Given the description of an element on the screen output the (x, y) to click on. 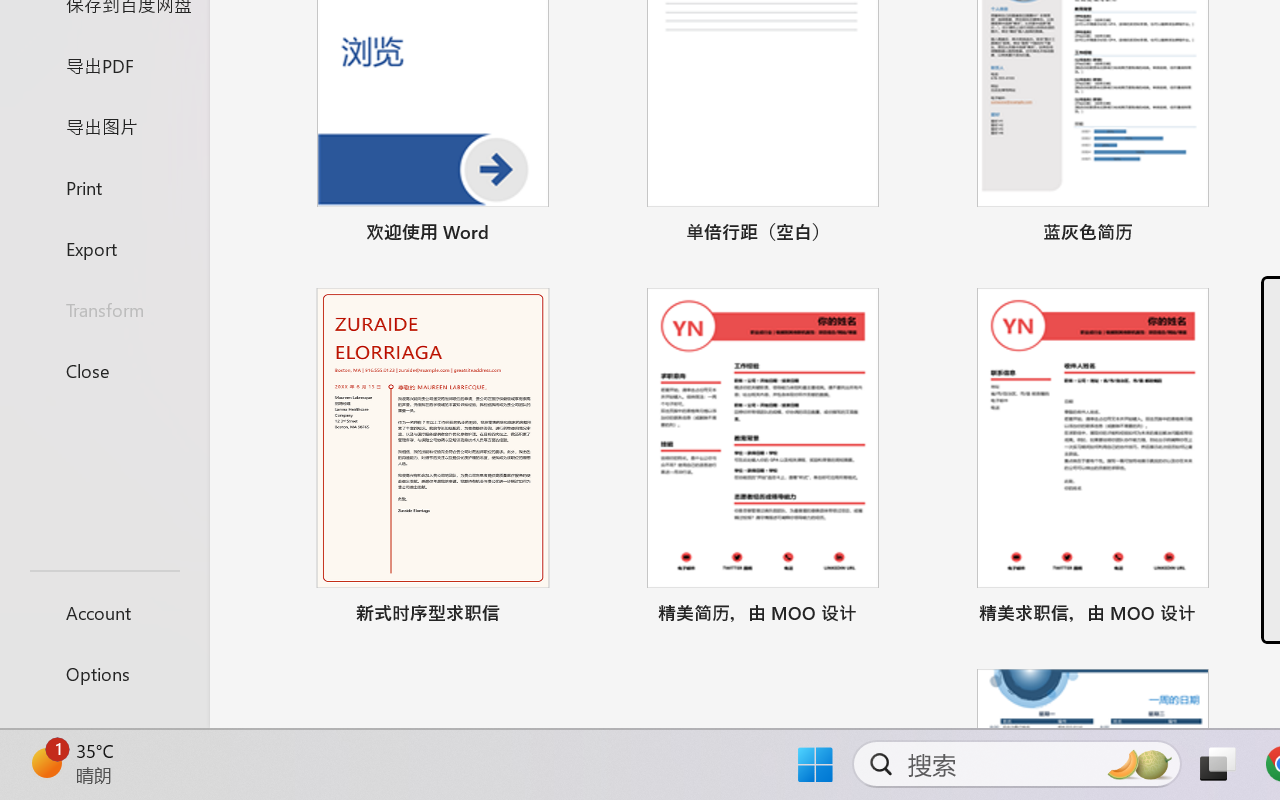
Transform (104, 309)
Print (104, 186)
Export (104, 248)
Options (104, 673)
Pin to list (1223, 616)
